Given the description of an element on the screen output the (x, y) to click on. 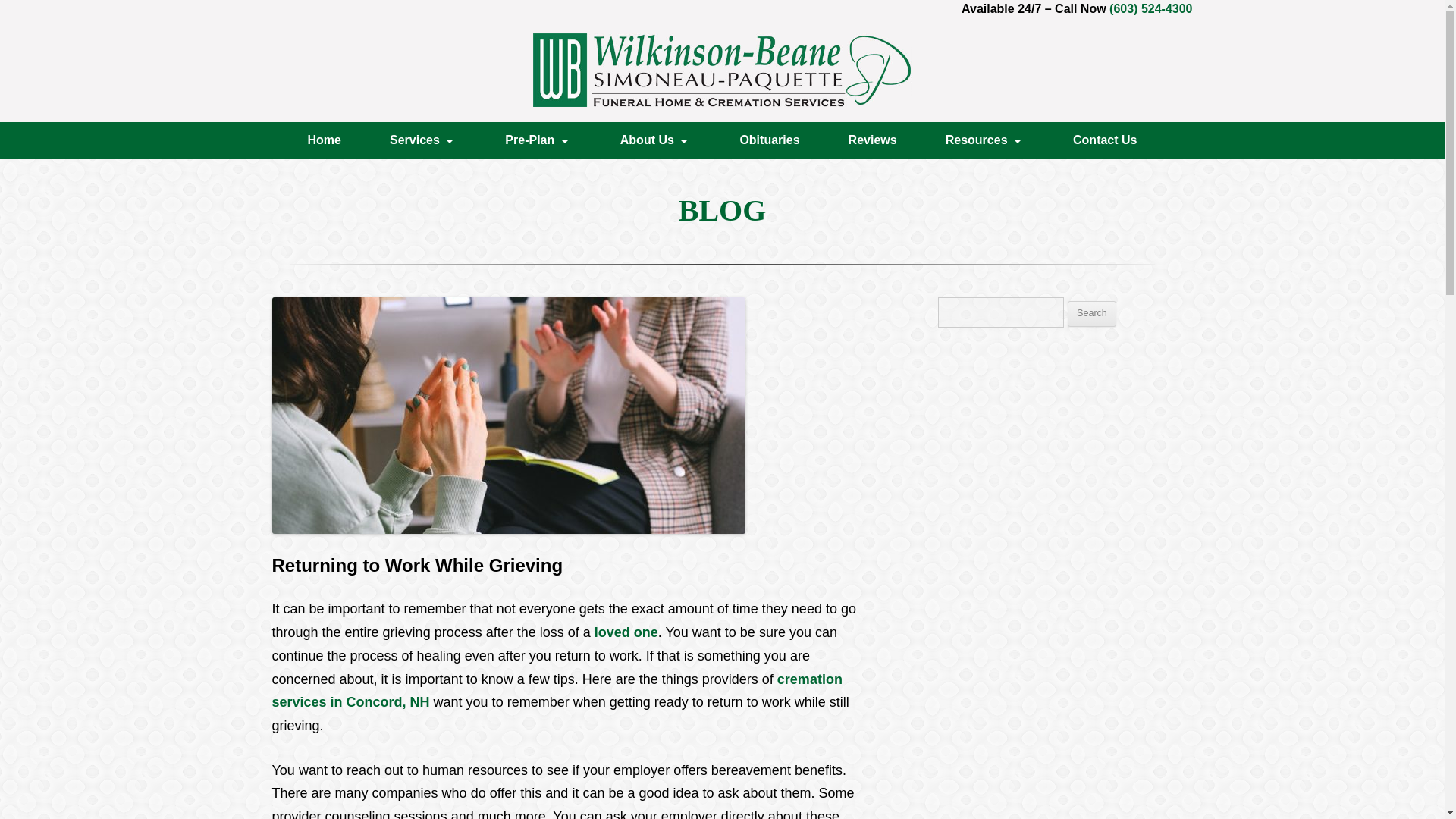
loved one (626, 631)
Obituaries (769, 140)
About Us (655, 140)
Contact Us (1104, 140)
Services (423, 140)
Home (324, 140)
BLOG (722, 210)
Search (1091, 313)
Reviews (872, 140)
cremation services in Concord, NH (555, 690)
Resources (984, 140)
Pre-Plan (537, 140)
